Given the description of an element on the screen output the (x, y) to click on. 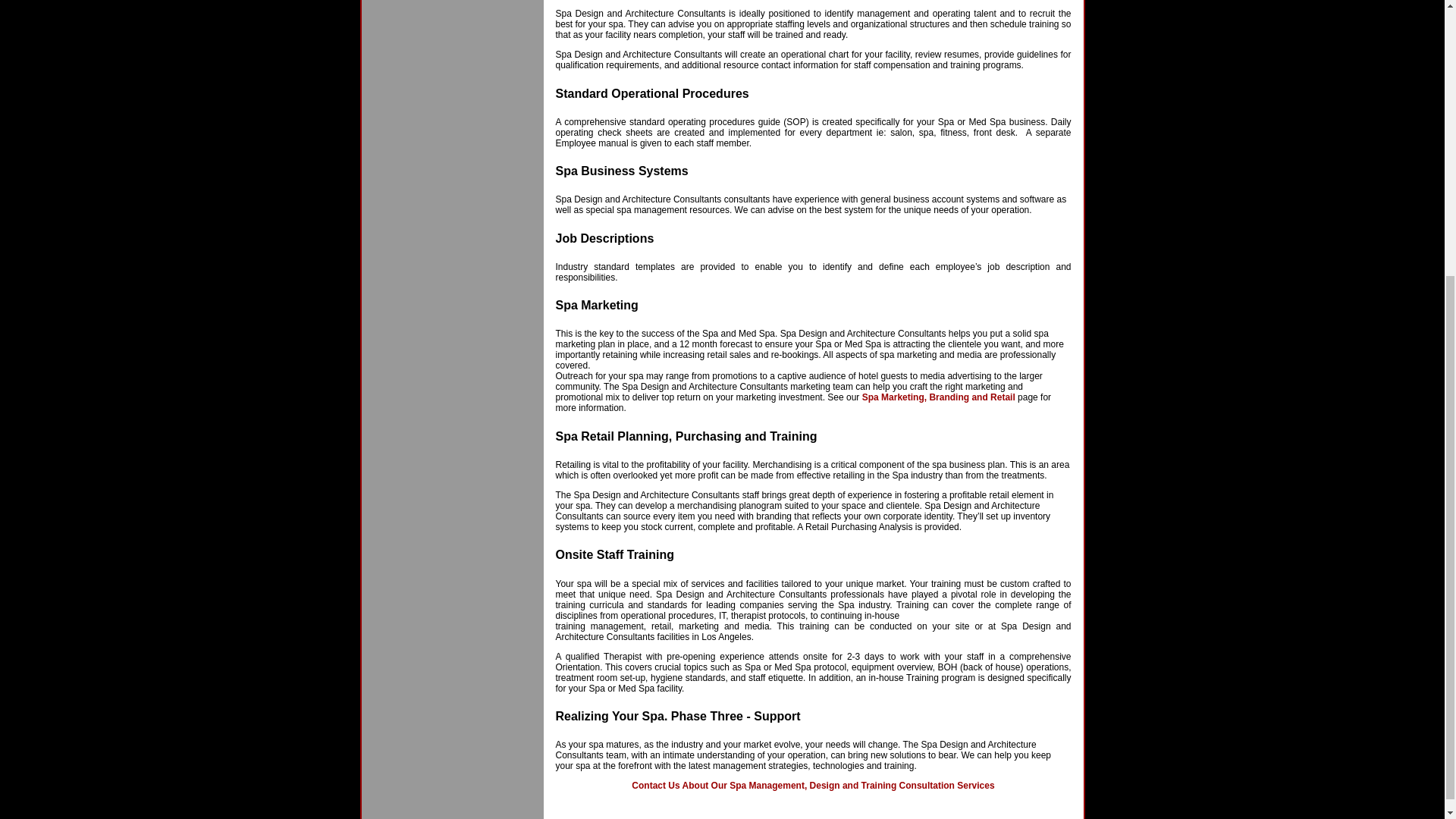
Spa Management, Design and Training Consulting Services (812, 785)
Spa Marketing, Branding and Retail (937, 397)
